Given the description of an element on the screen output the (x, y) to click on. 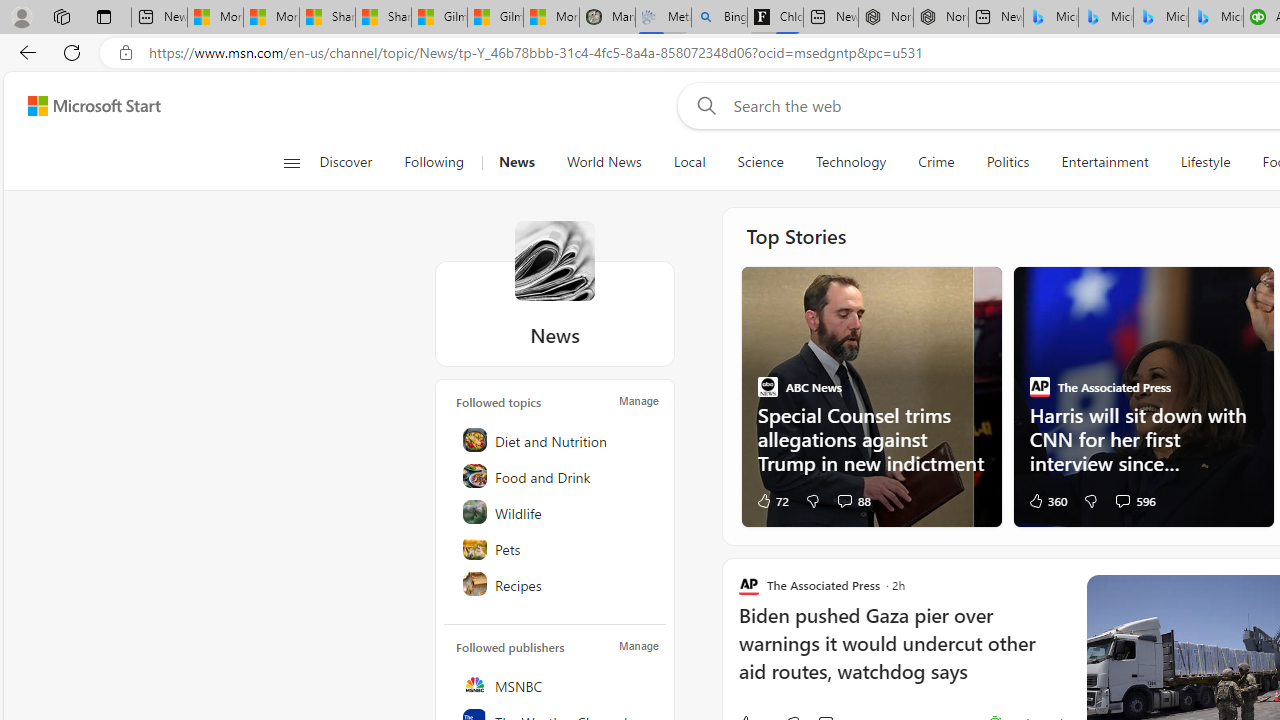
Skip to content (86, 105)
Entertainment (1104, 162)
News (554, 260)
Class: button-glyph (290, 162)
Recipes (556, 583)
Manatee Mortality Statistics | FWC (606, 17)
Gilma and Hector both pose tropical trouble for Hawaii (495, 17)
